Given the description of an element on the screen output the (x, y) to click on. 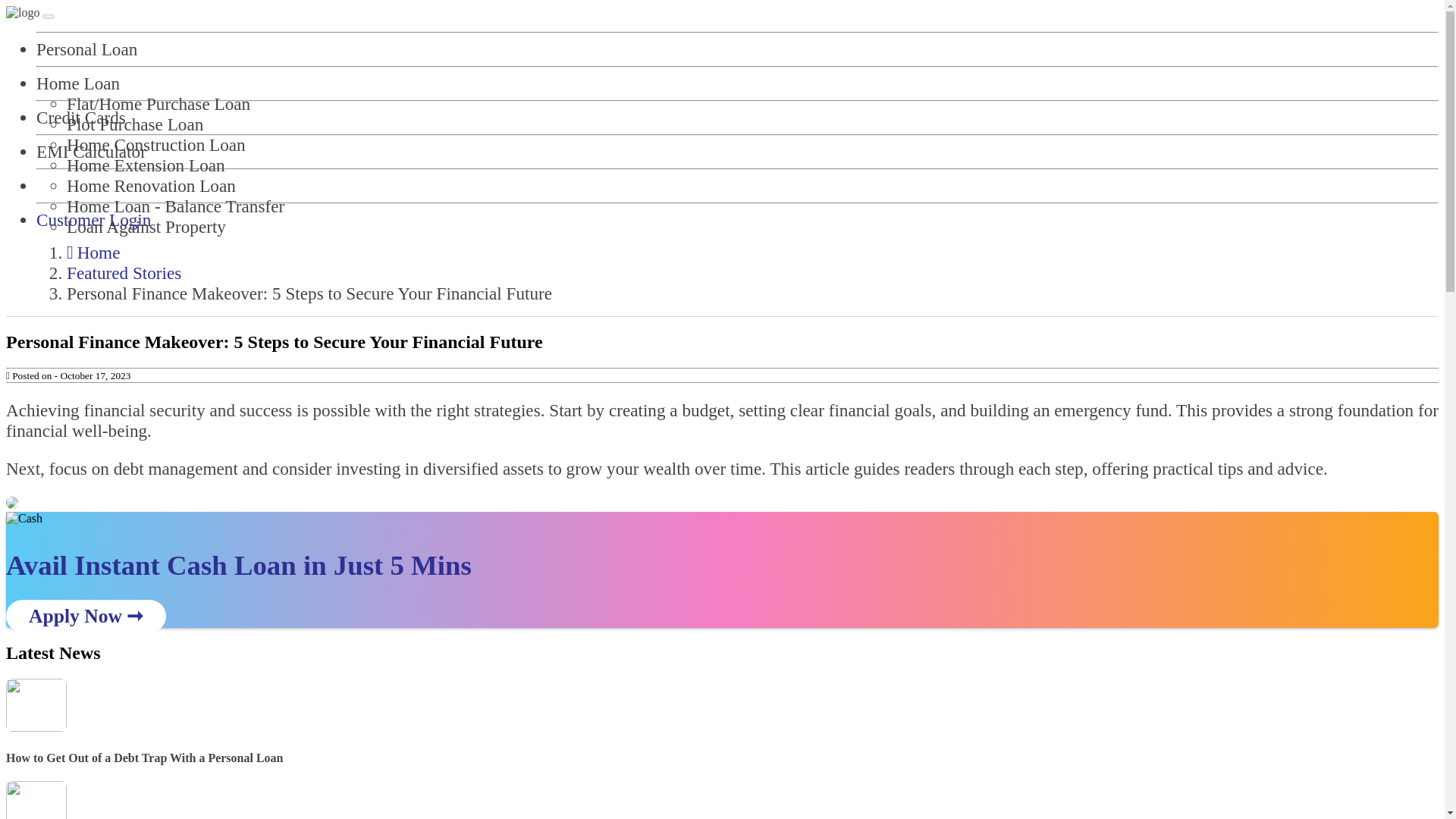
Home Loan - Balance Transfer (174, 206)
EMI Calculator (91, 151)
Plot Purchase Loan (134, 124)
Personal Loan (86, 48)
Home Extension Loan (145, 165)
Home Renovation Loan (150, 185)
Credit Cards (80, 117)
Loan Against Property (145, 226)
Home (92, 252)
Home Construction Loan (156, 144)
